Given the description of an element on the screen output the (x, y) to click on. 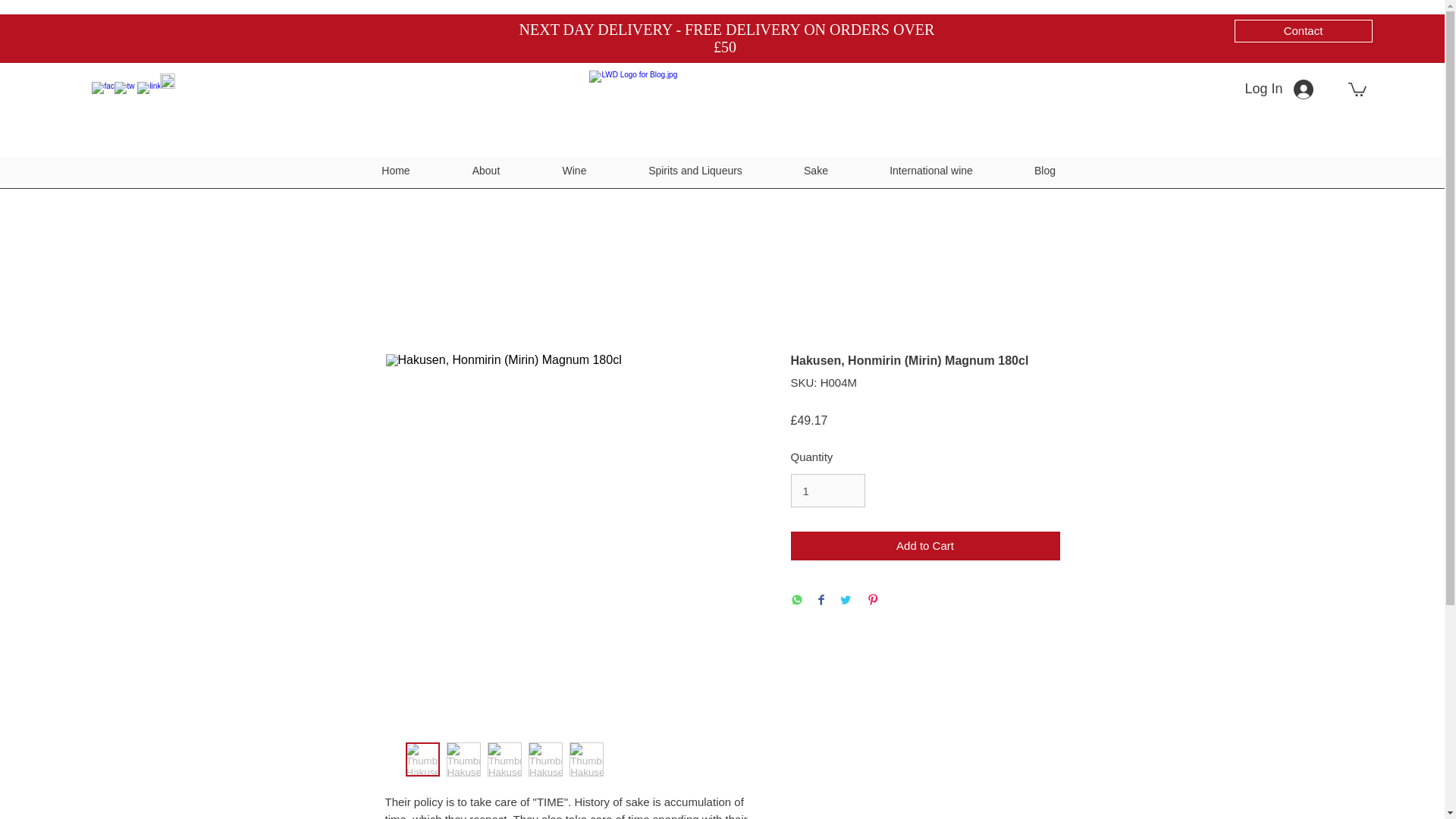
Add to Cart (924, 546)
Wine (574, 169)
1 (827, 490)
Blog (1045, 169)
Home (395, 169)
International wine (931, 169)
Contact (1303, 30)
Log In (1278, 89)
Spirits and Liqueurs (695, 169)
Sake (816, 169)
About (486, 169)
